Given the description of an element on the screen output the (x, y) to click on. 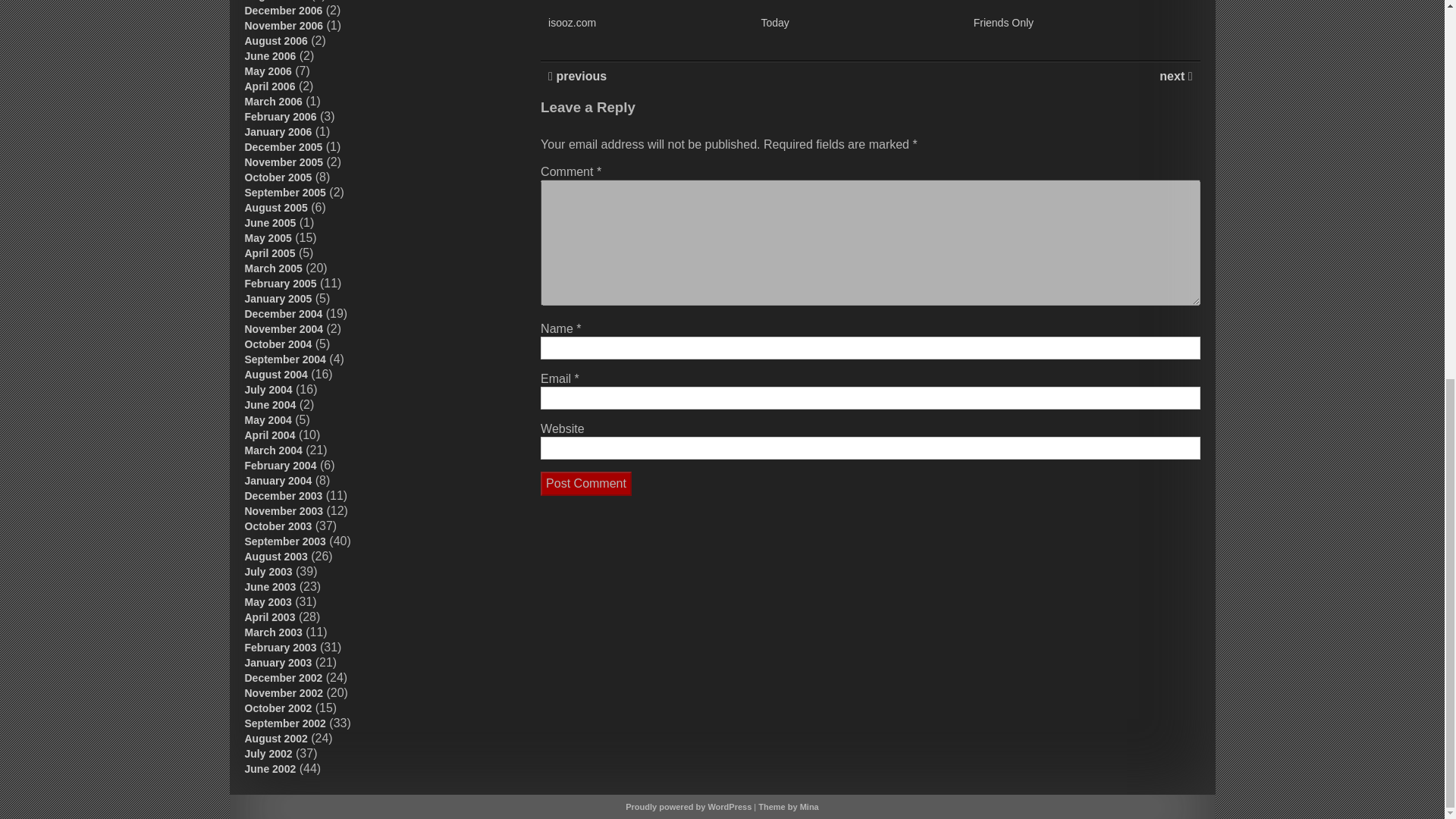
next (1173, 75)
Friends Only (1003, 22)
isooz.com (571, 22)
previous (580, 75)
Today (774, 22)
Post Comment (585, 483)
Friends Only (1003, 22)
Wordpress theme (788, 806)
isooz.com (571, 22)
Post Comment (585, 483)
